Given the description of an element on the screen output the (x, y) to click on. 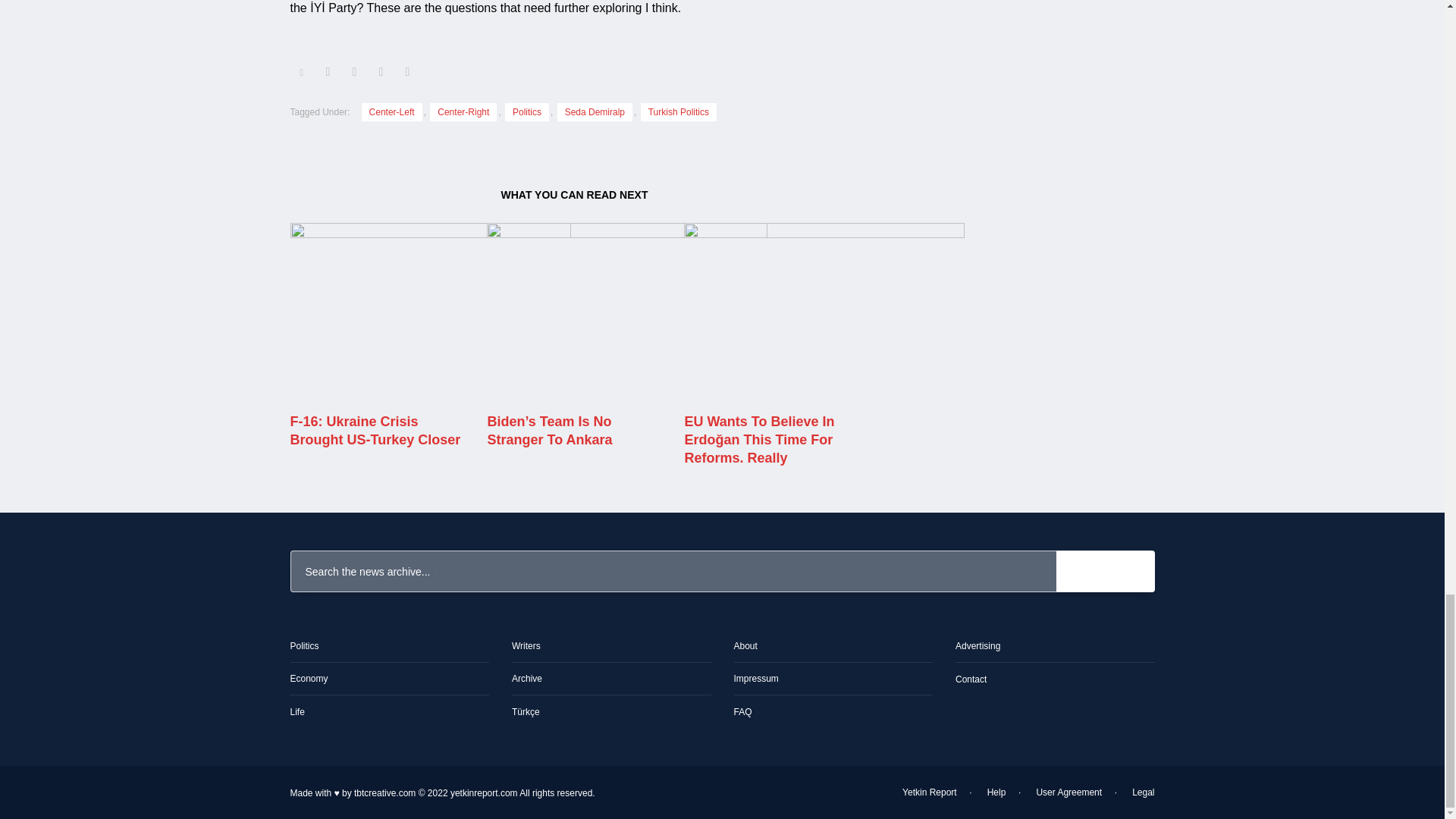
Seda Demiralp (594, 112)
SHARE ON FACEBOOK (328, 71)
SHARE ON GPLUS (353, 71)
Biden-Harris (626, 313)
Center-Left (391, 112)
Politics (526, 112)
Turkish Politics (678, 112)
Center-Right (462, 112)
SHARE ON MAIL (407, 71)
SHARE ON TWITTER (301, 72)
